Given the description of an element on the screen output the (x, y) to click on. 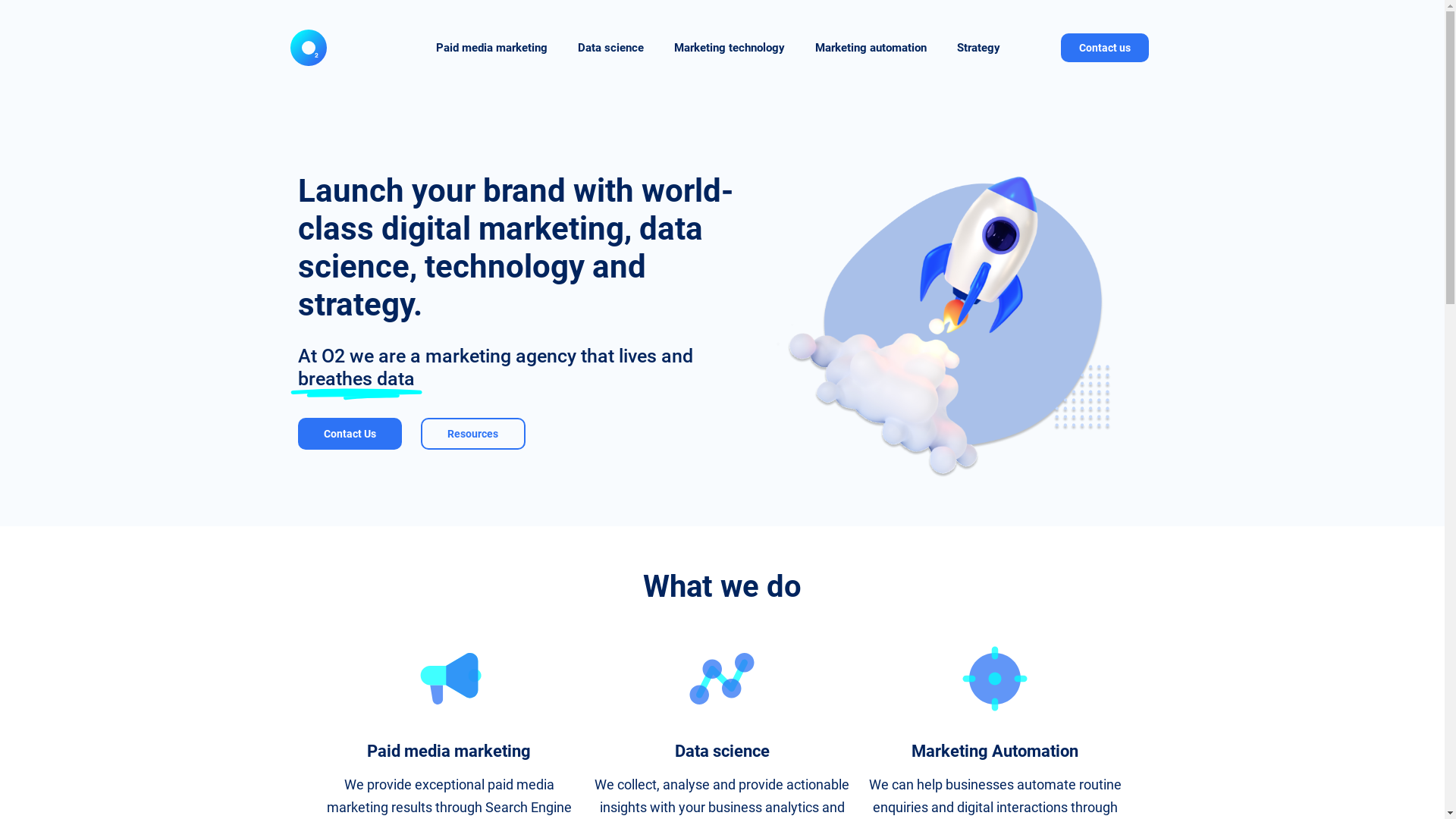
Contact Us Element type: text (349, 433)
Resources Element type: text (472, 433)
Paid media marketing Element type: text (491, 47)
O2 Logo Element type: hover (307, 46)
Strategy Element type: text (978, 47)
Data science Element type: text (610, 47)
Marketing automation Element type: text (870, 47)
Marketing technology Element type: text (729, 47)
Contact us Element type: text (1104, 47)
